Given the description of an element on the screen output the (x, y) to click on. 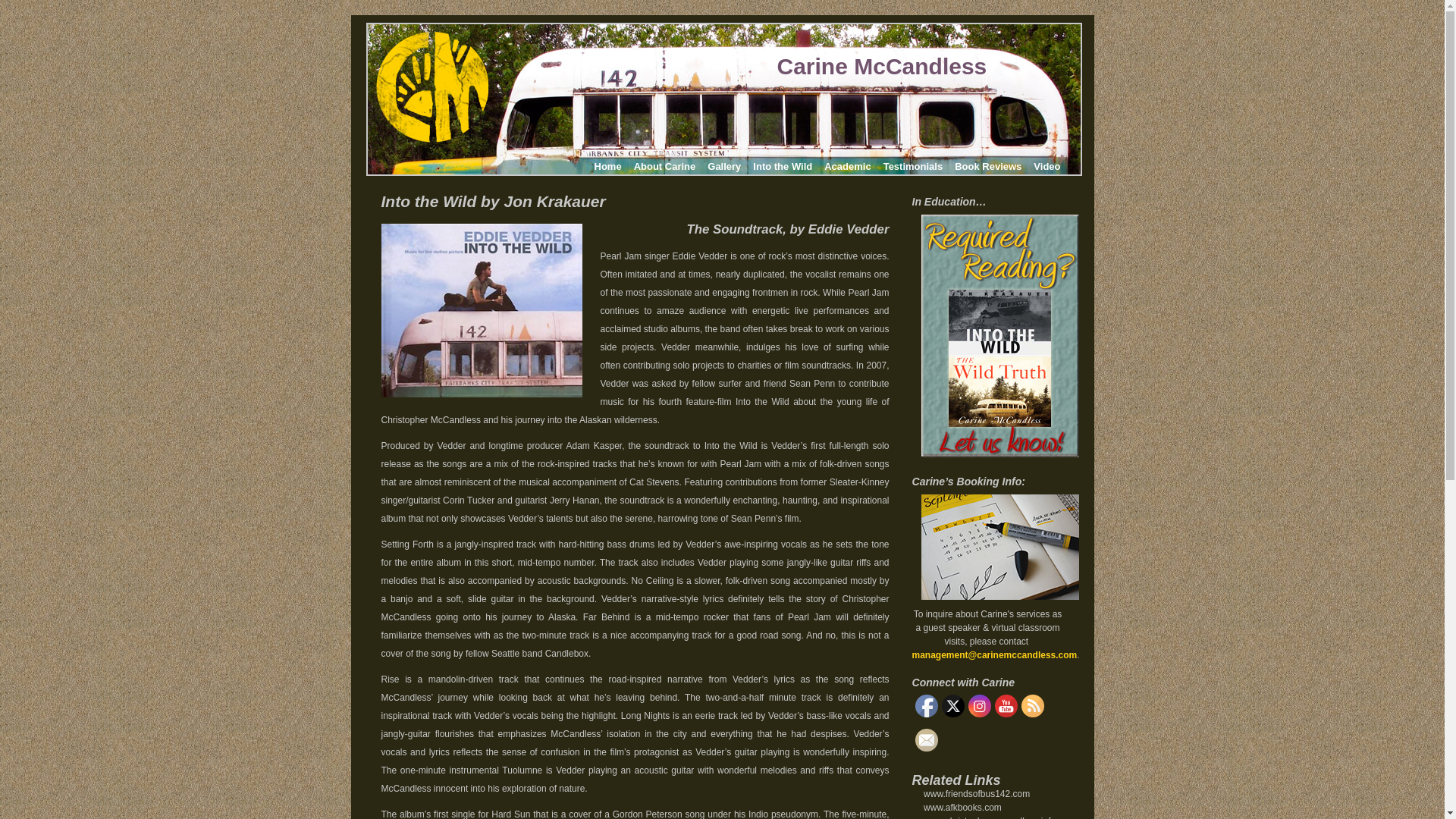
www.afkbooks.com (962, 807)
Video (1046, 166)
Carine McCandless (881, 66)
Home (607, 166)
Testimonials (913, 166)
About Carine (664, 166)
www.christophermccandless.info (989, 817)
RSS (1031, 705)
www.friendsofbus142.com (976, 793)
Twitter (952, 705)
Follow by Email (925, 739)
Instagram (979, 705)
Book Reviews (988, 166)
Academic (847, 166)
Facebook (925, 705)
